Given the description of an element on the screen output the (x, y) to click on. 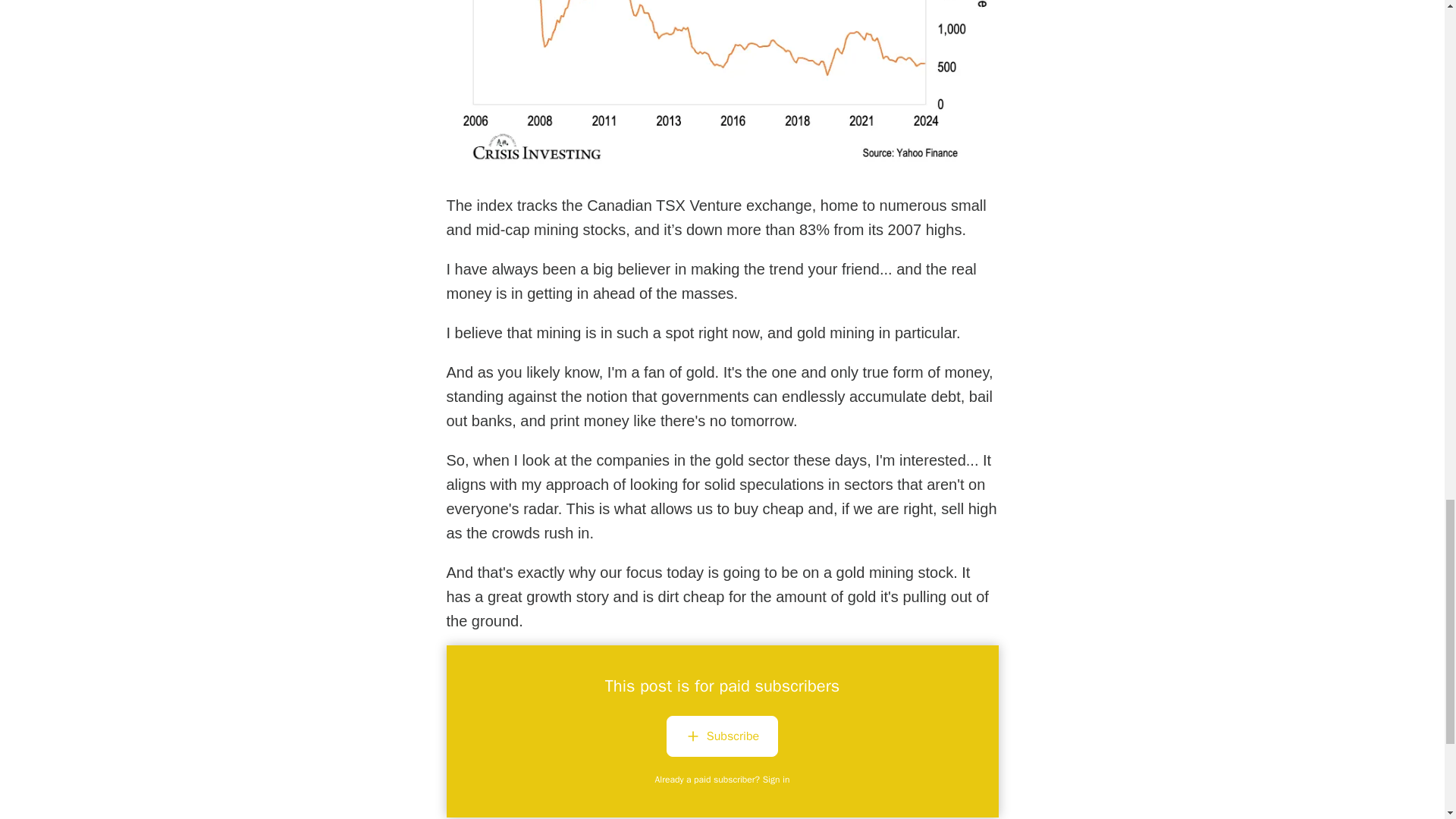
Subscribe (721, 735)
Already a paid subscriber? Sign in (722, 779)
Subscribe (721, 738)
